Given the description of an element on the screen output the (x, y) to click on. 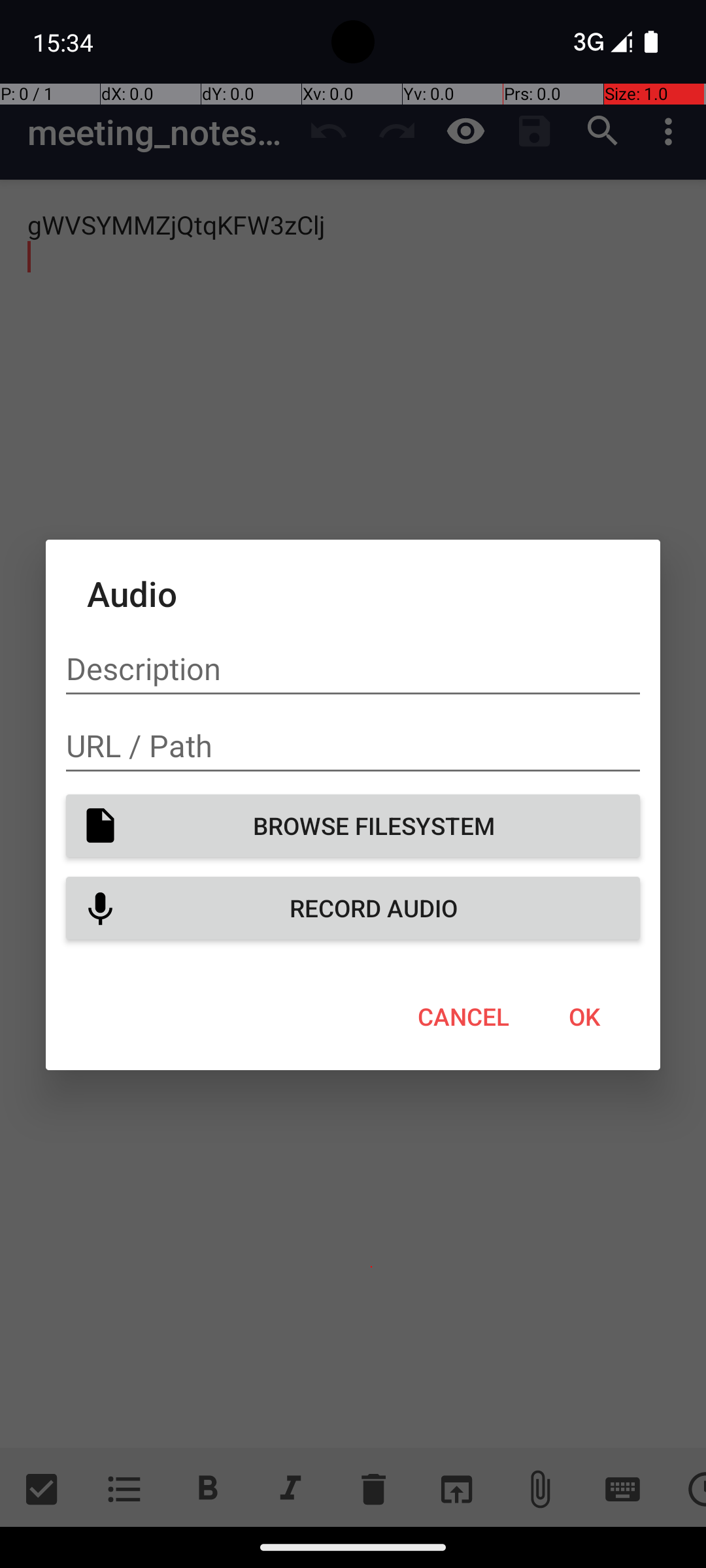
Description Element type: android.widget.EditText (352, 668)
URL / Path Element type: android.widget.EditText (352, 745)
BROWSE FILESYSTEM Element type: android.widget.Button (352, 825)
RECORD AUDIO Element type: android.widget.Button (352, 907)
